Given the description of an element on the screen output the (x, y) to click on. 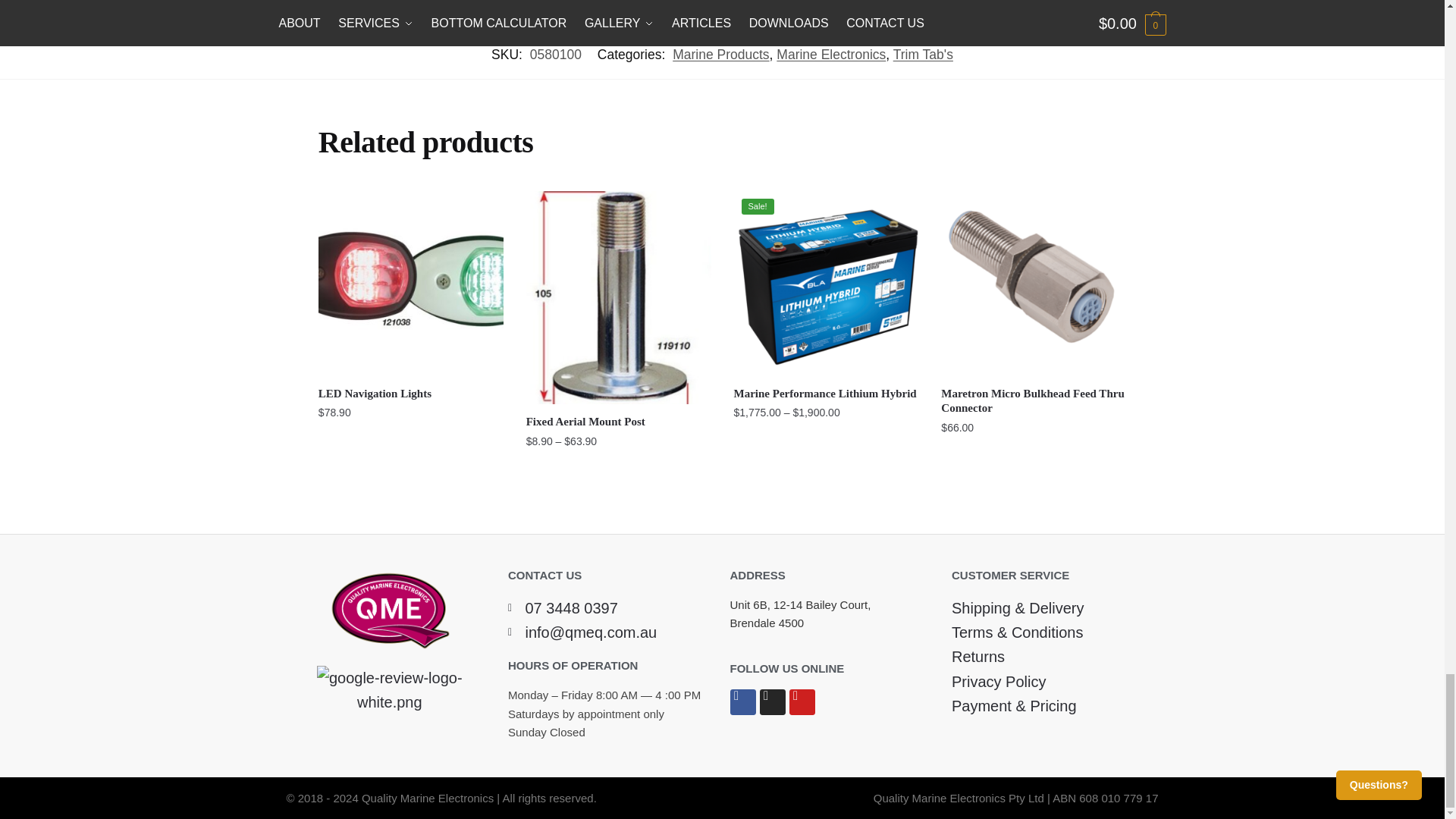
Maretron Micro Bulkhead Feed Thru Connector (1032, 282)
google-review-logo-white.png (390, 689)
Marine Performance Lithium Hybrid (825, 282)
LED Navigation Lights (410, 282)
